Given the description of an element on the screen output the (x, y) to click on. 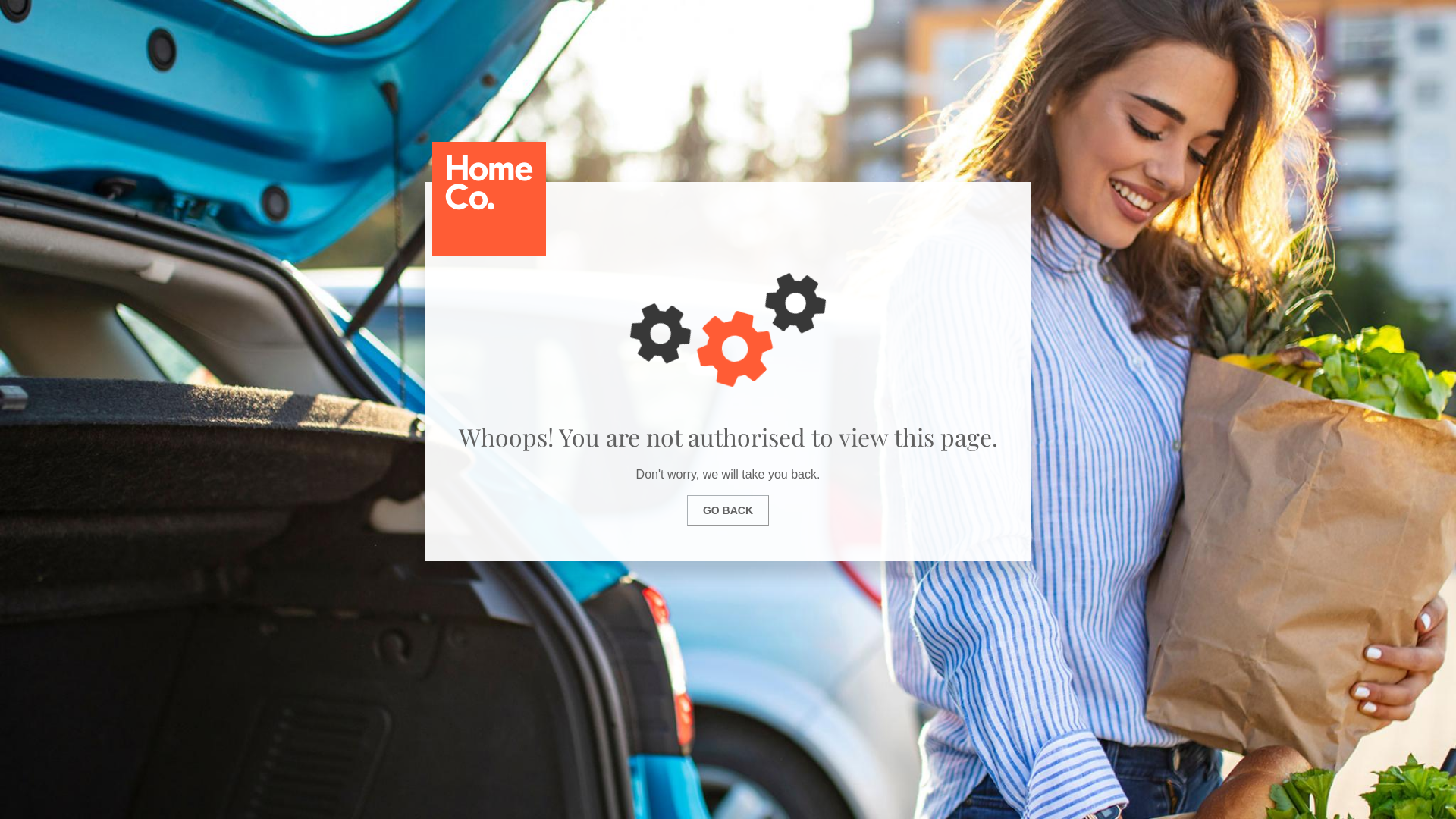
GO BACK Element type: text (727, 510)
